Given the description of an element on the screen output the (x, y) to click on. 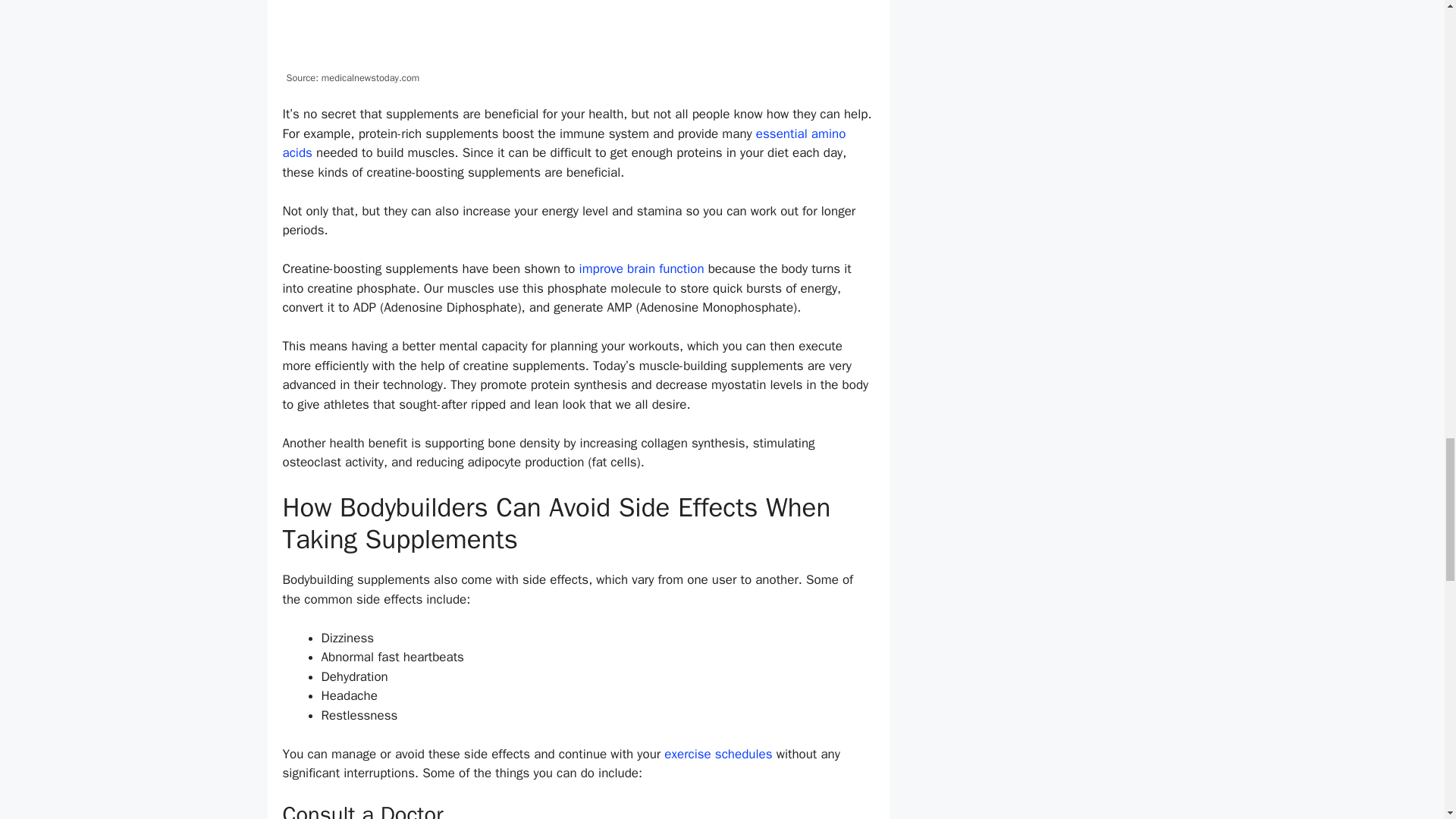
exercise schedules (717, 754)
 improve brain function (639, 268)
essential amino acids (563, 143)
